Given the description of an element on the screen output the (x, y) to click on. 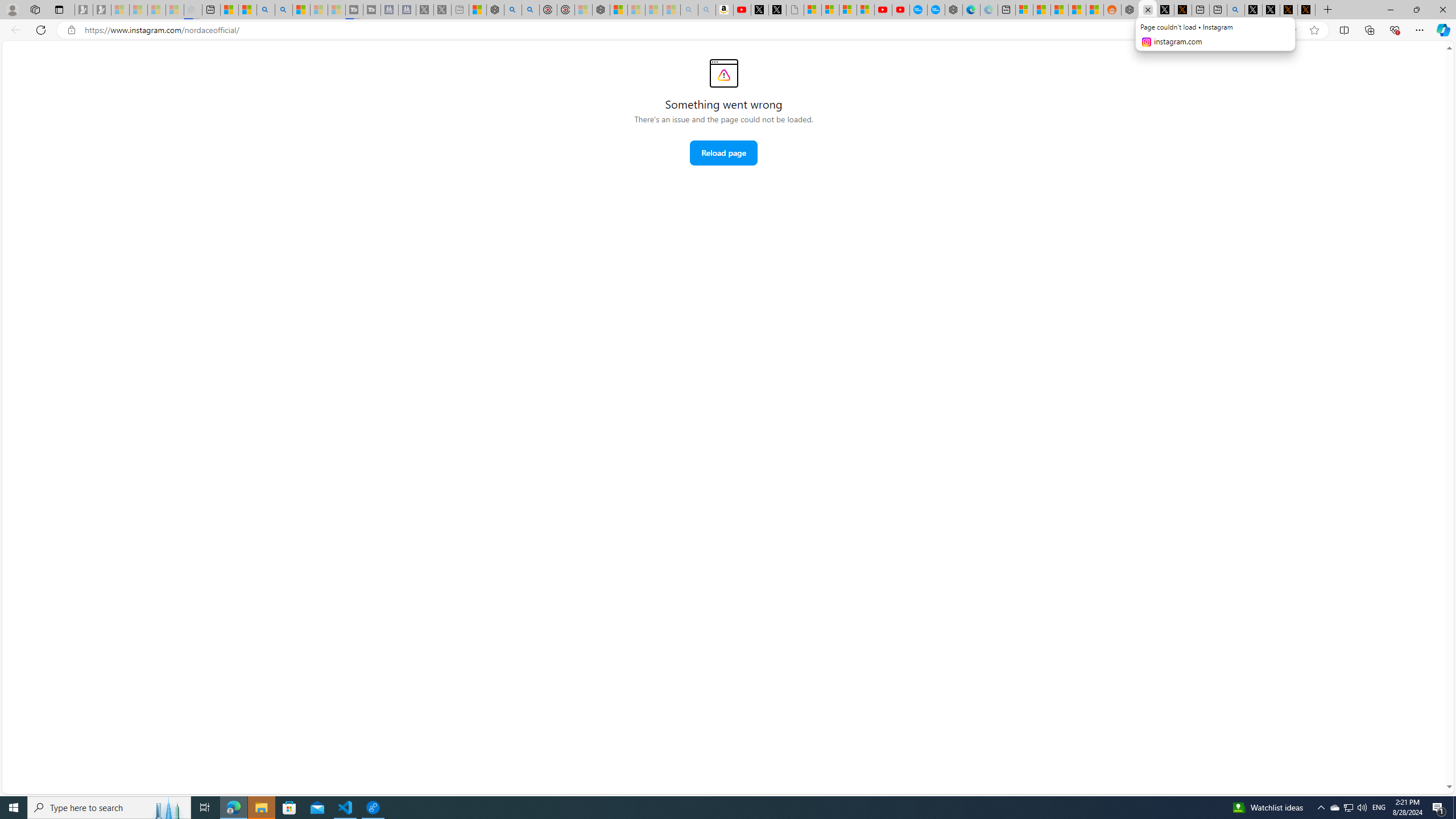
Error (723, 72)
Shanghai, China hourly forecast | Microsoft Weather (1059, 9)
